Given the description of an element on the screen output the (x, y) to click on. 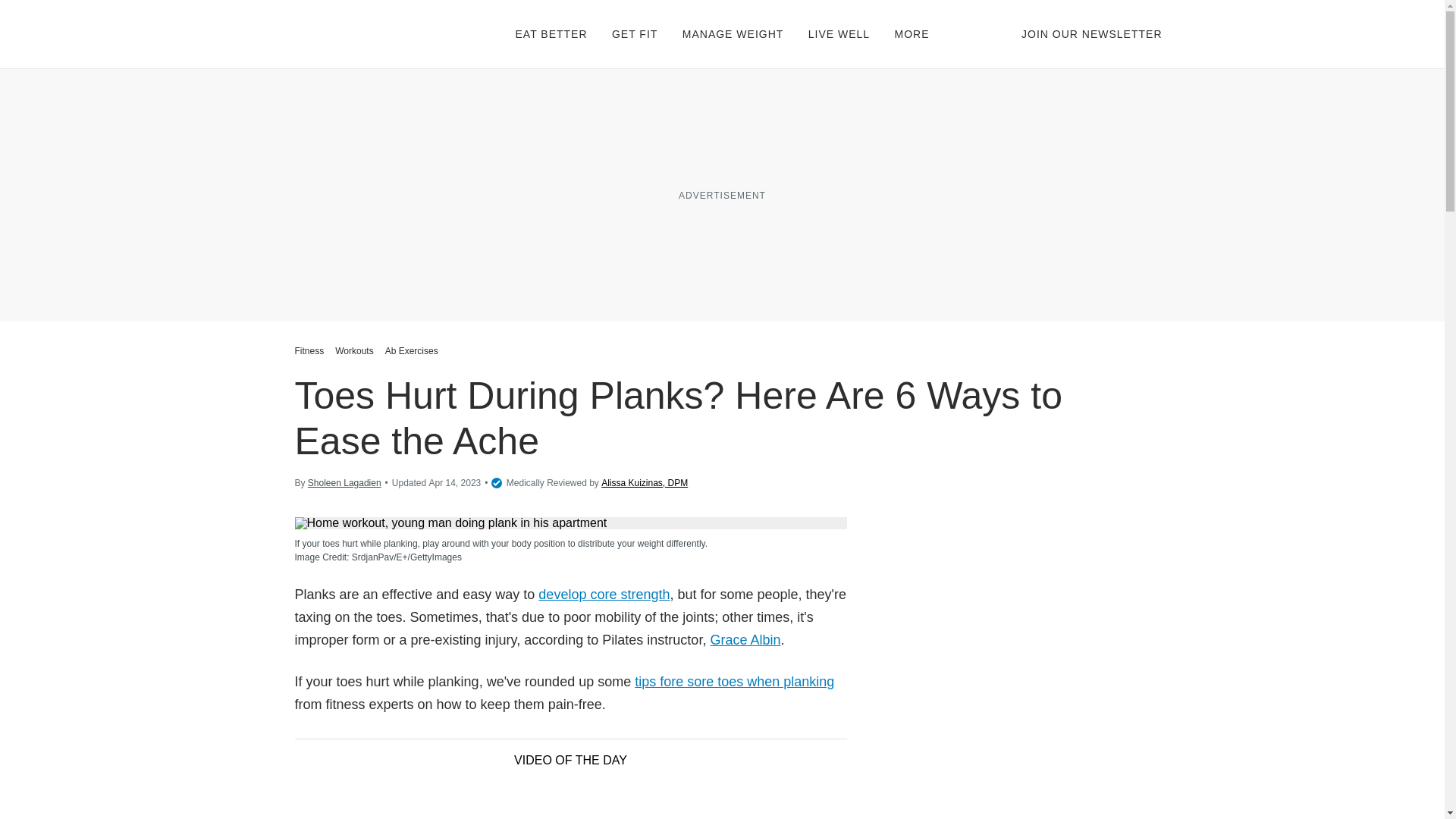
EAT BETTER (551, 33)
MANAGE WEIGHT (733, 33)
tips fore sore toes when planking (734, 681)
JOIN OUR NEWSLETTER (1091, 33)
GET FIT (634, 33)
Alissa Kuizinas, DPM (644, 482)
Grace Albin (745, 639)
develop core strength (603, 594)
LIVE WELL (838, 33)
Ab Exercises (411, 350)
Fitness (310, 350)
Sholeen Lagadien (344, 482)
Workouts (354, 350)
